Given the description of an element on the screen output the (x, y) to click on. 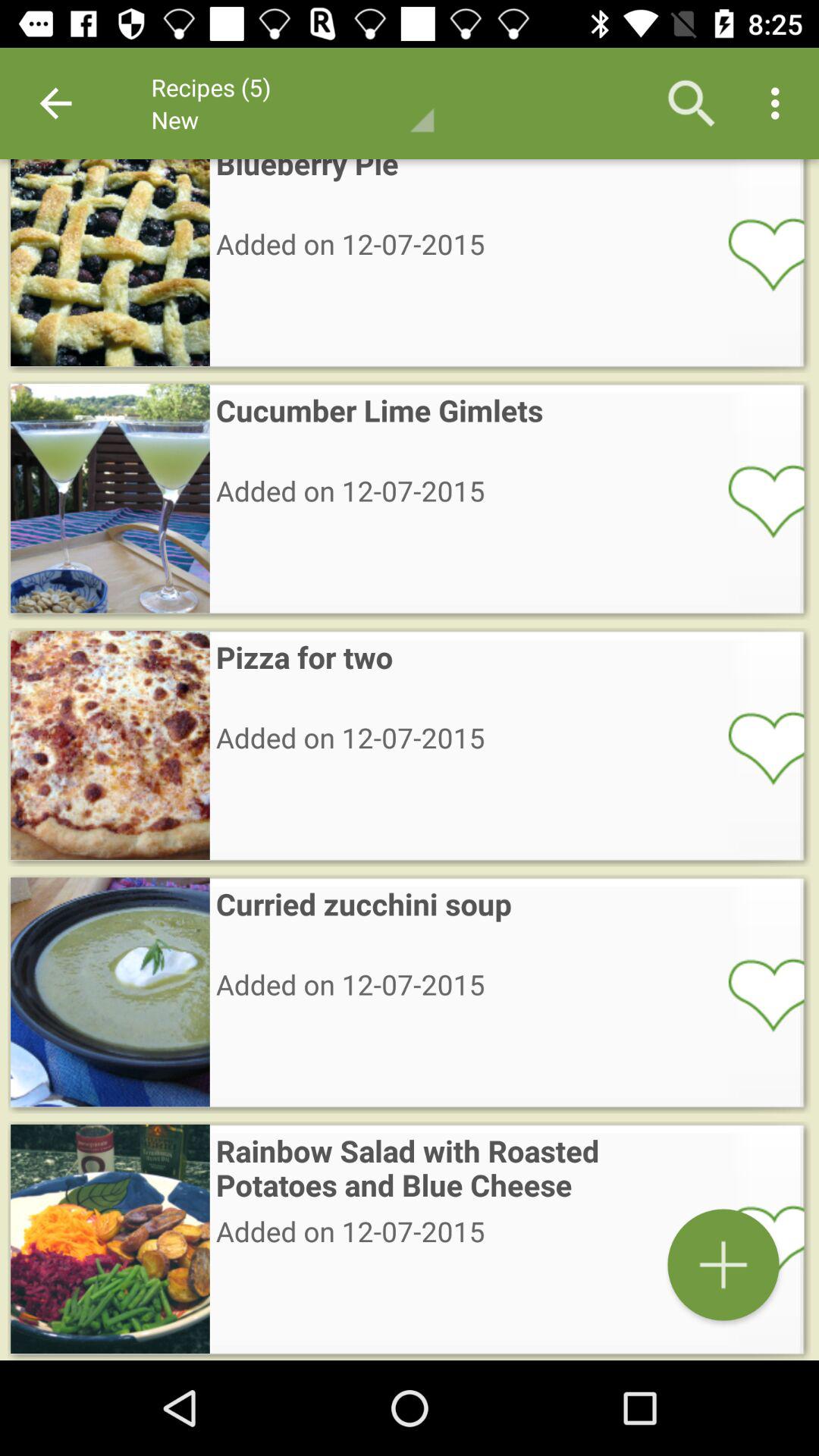
click the like option (756, 747)
